Given the description of an element on the screen output the (x, y) to click on. 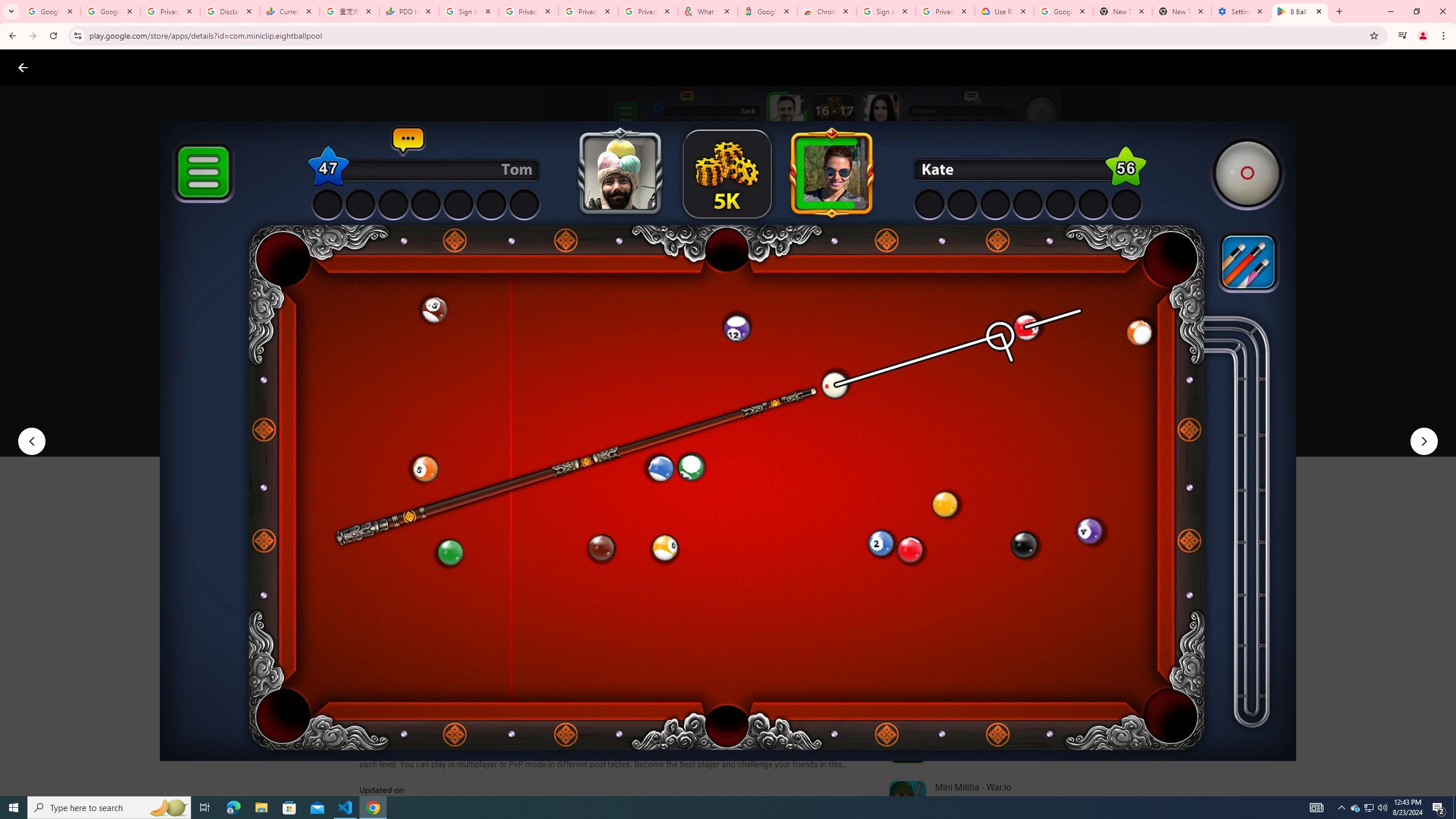
Next (1424, 441)
Apps (182, 67)
Share (506, 422)
Privacy Checkup (588, 11)
Google Play logo (64, 67)
Close screenshot viewer (22, 67)
Settings - System (1241, 11)
